Given the description of an element on the screen output the (x, y) to click on. 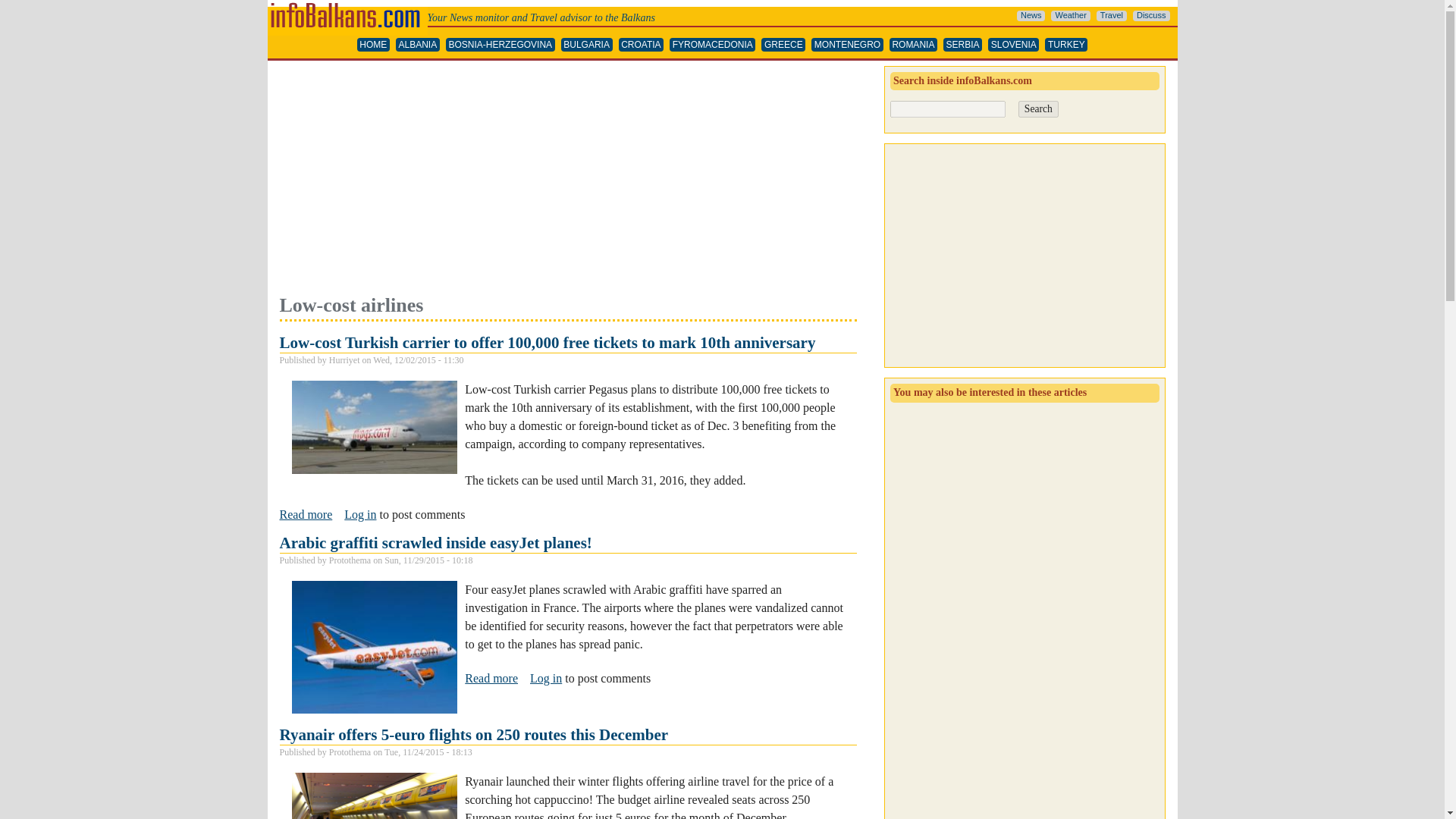
SLOVENIA (1013, 44)
Weather (1070, 15)
HOME (373, 44)
ALBANIA (417, 44)
TURKEY (1066, 44)
Arabic graffiti scrawled inside easyJet planes! (435, 542)
Travel (1111, 15)
